Given the description of an element on the screen output the (x, y) to click on. 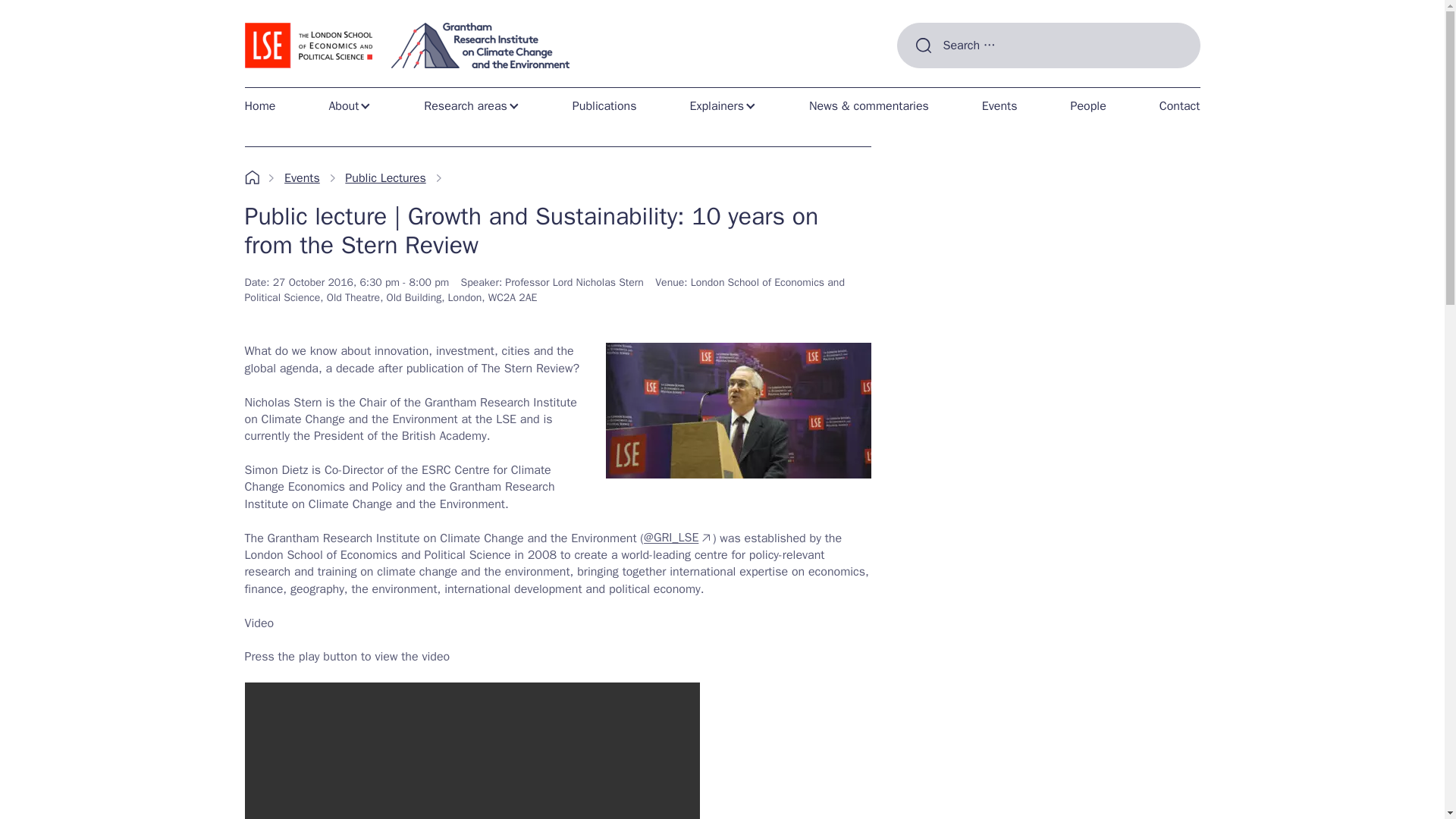
About (348, 105)
Search (922, 80)
Search (922, 80)
Research areas (471, 105)
Home (265, 105)
Research areas (471, 105)
Explainers (722, 105)
Home (265, 105)
Publications (604, 105)
Search (922, 80)
